Given the description of an element on the screen output the (x, y) to click on. 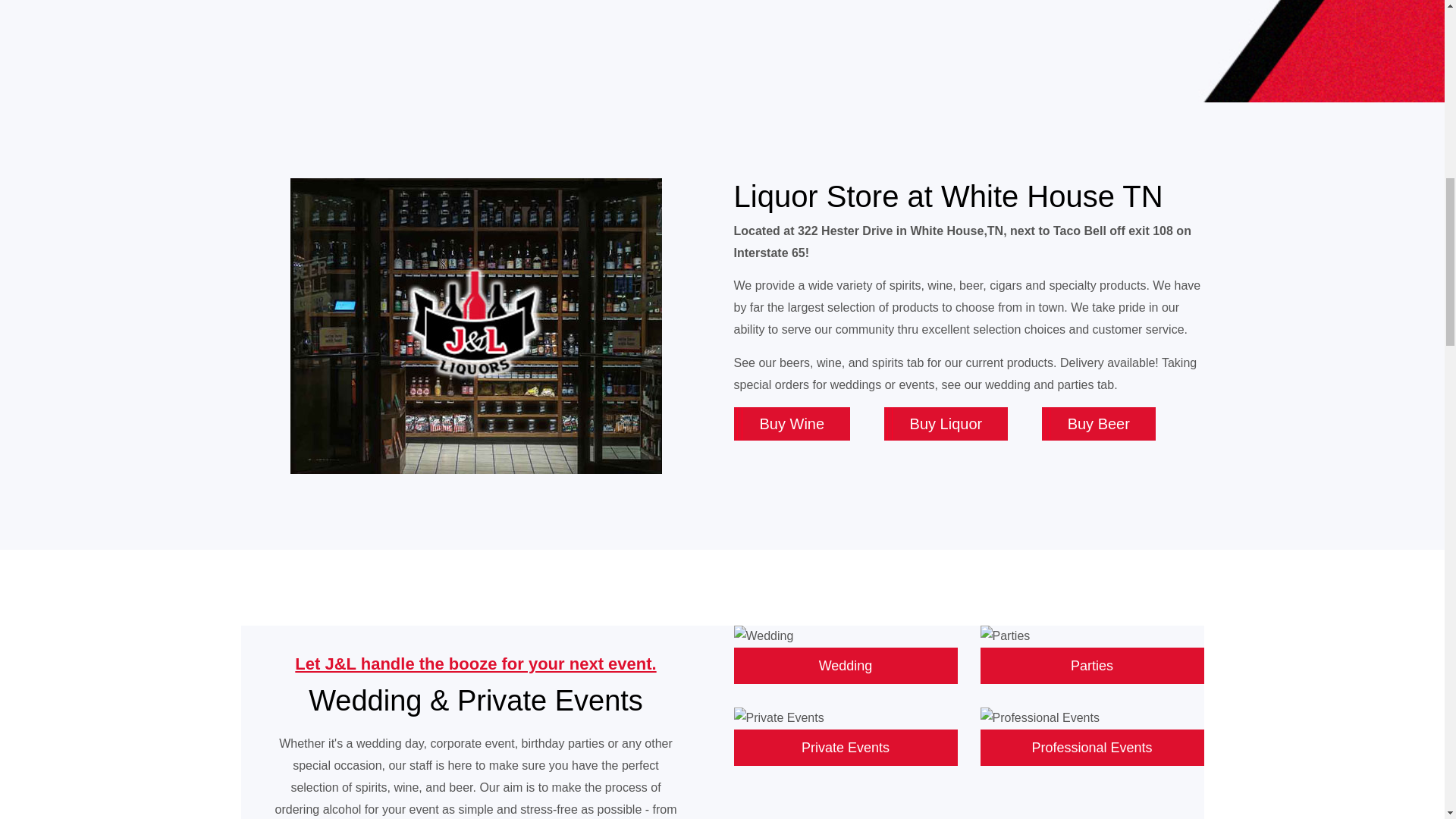
Buy Beer (1099, 423)
Buy Wine (791, 423)
Buy Liquor (946, 423)
